Given the description of an element on the screen output the (x, y) to click on. 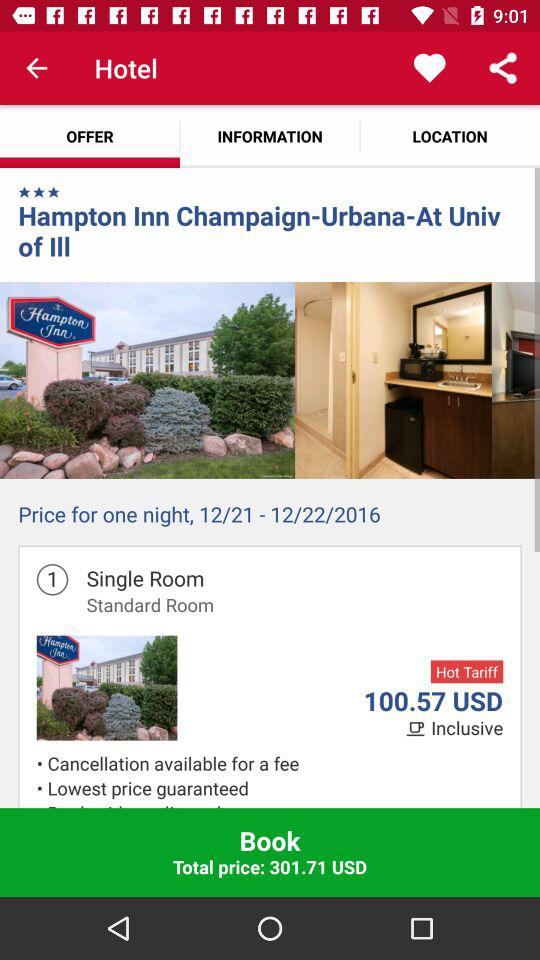
swipe to inclusive item (467, 728)
